Given the description of an element on the screen output the (x, y) to click on. 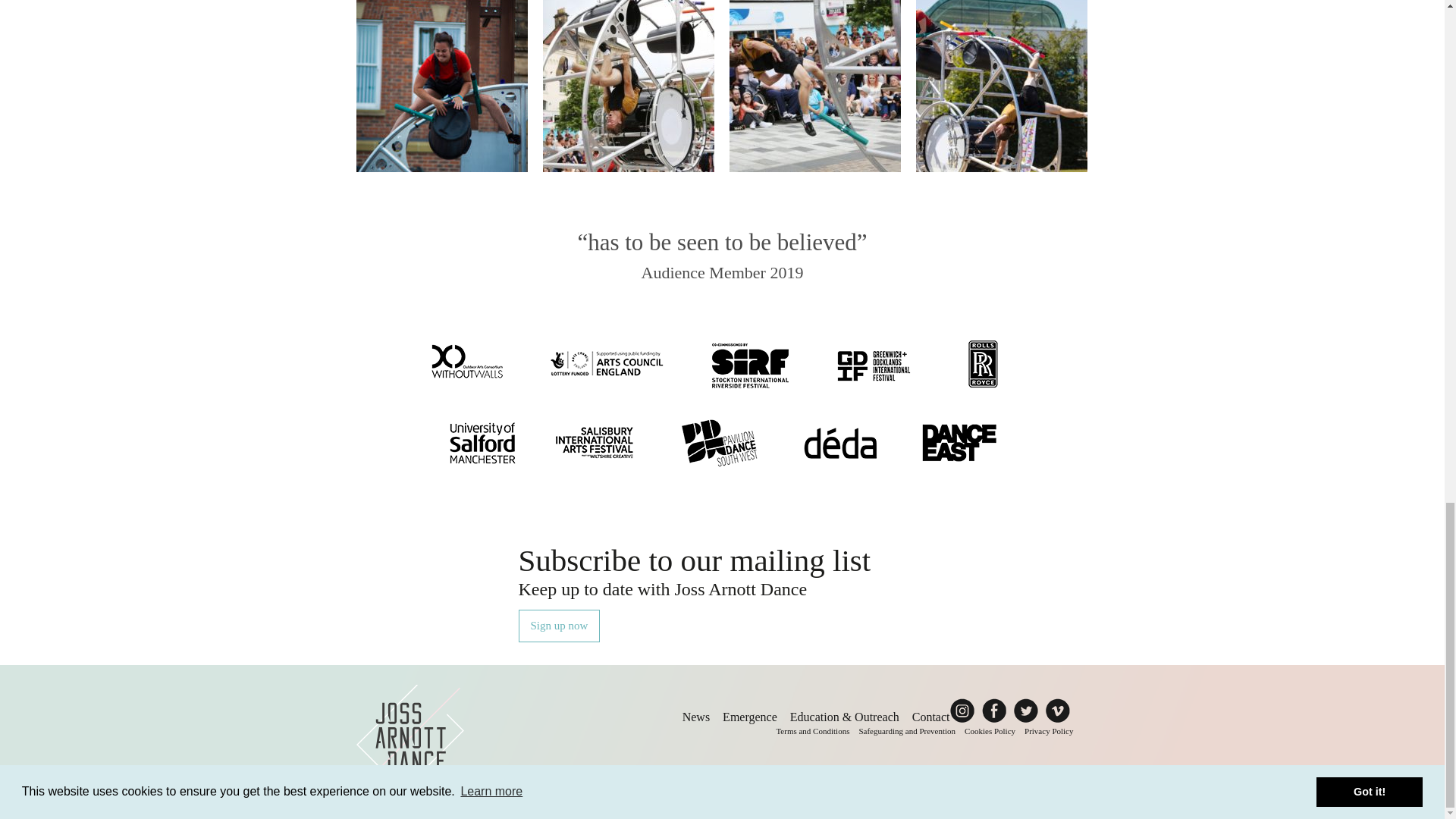
Sign up now (558, 625)
Terms and Conditions (812, 730)
Emergence (749, 717)
Contact (931, 717)
Safeguarding and Prevention (907, 730)
News (696, 717)
